Given the description of an element on the screen output the (x, y) to click on. 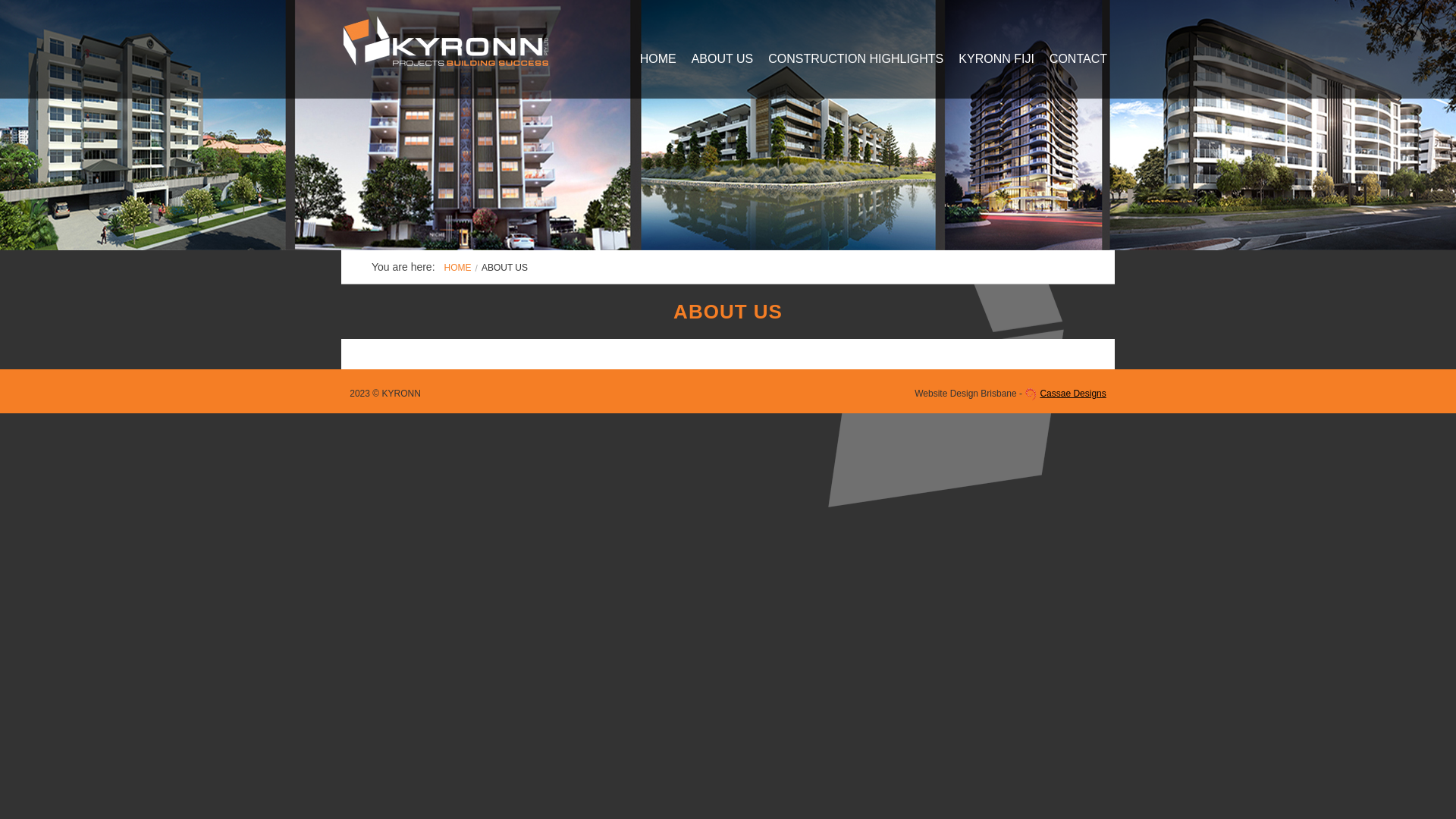
HOME Element type: text (457, 267)
HOME Element type: text (658, 61)
ABOUT US Element type: text (722, 61)
CONTACT Element type: text (1077, 61)
KYRONN FIJI Element type: text (995, 61)
Cassae Designs Element type: text (1064, 393)
CONSTRUCTION HIGHLIGHTS Element type: text (855, 61)
